Given the description of an element on the screen output the (x, y) to click on. 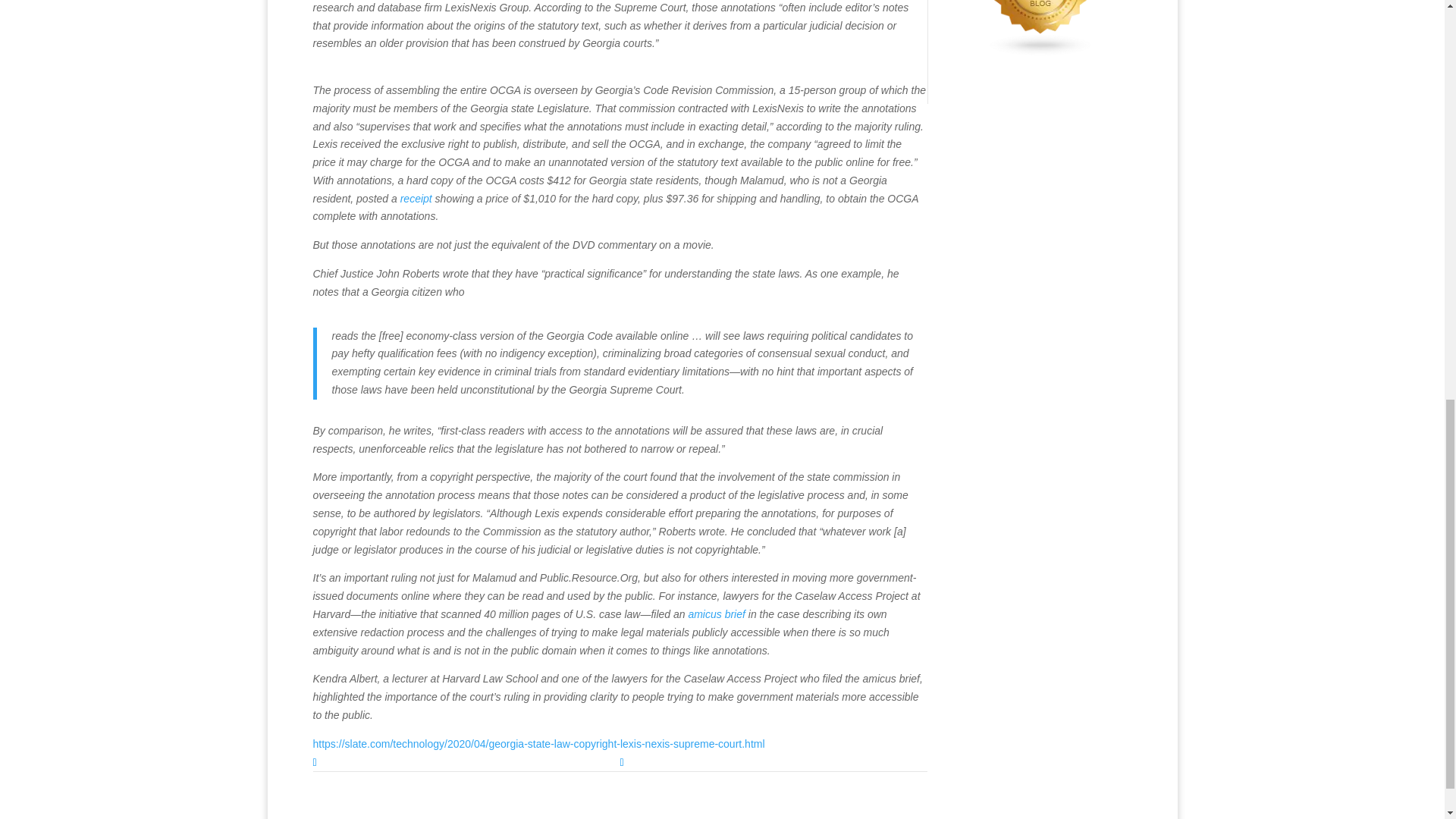
receipt (416, 198)
Share Via Email (773, 762)
Share On Linkedin (466, 762)
amicus brief (715, 613)
